Given the description of an element on the screen output the (x, y) to click on. 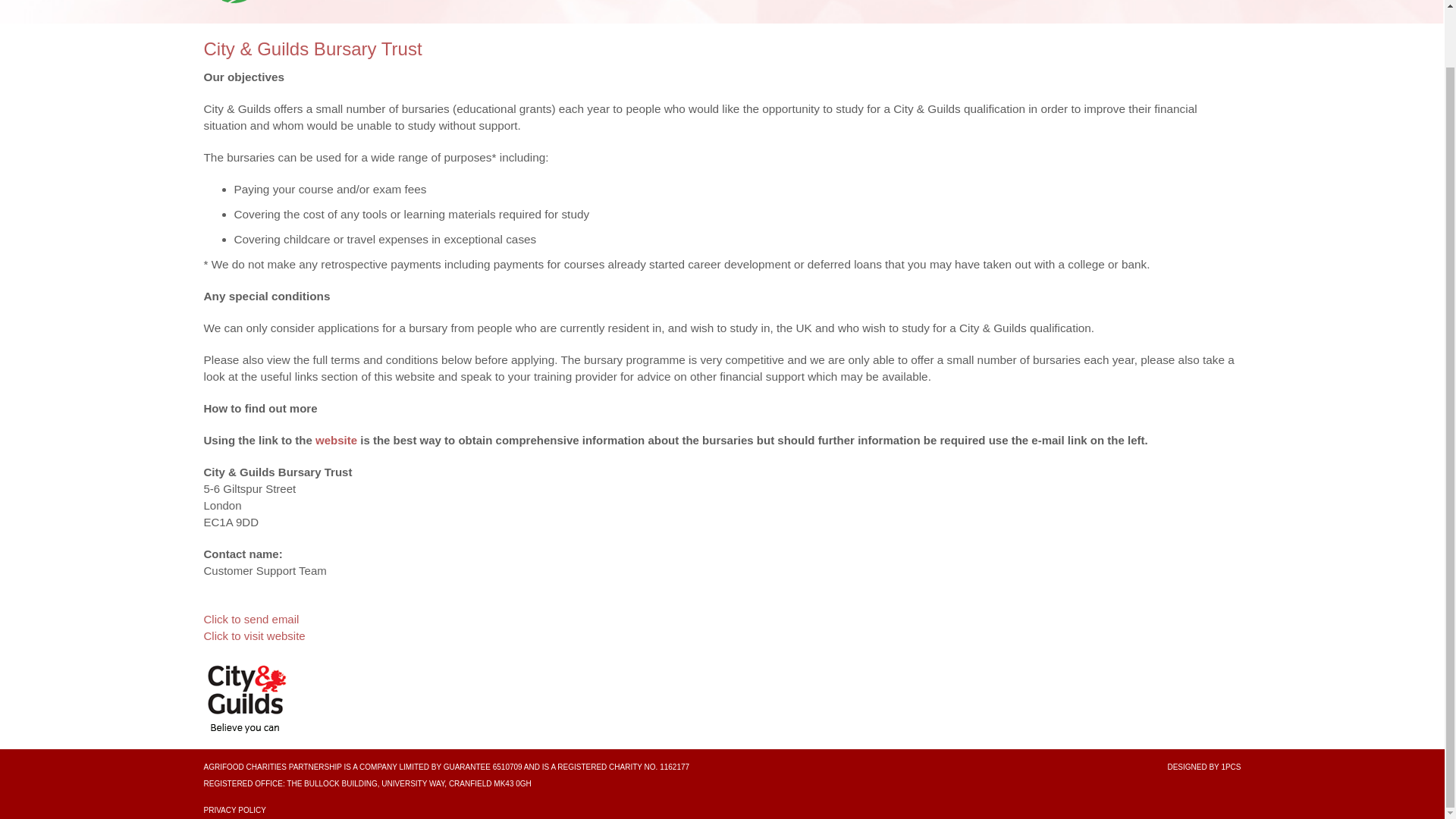
PRIVACY POLICY (233, 809)
Click to send email (250, 618)
1PCS (1230, 766)
Click to visit website (253, 635)
website (335, 440)
